Given the description of an element on the screen output the (x, y) to click on. 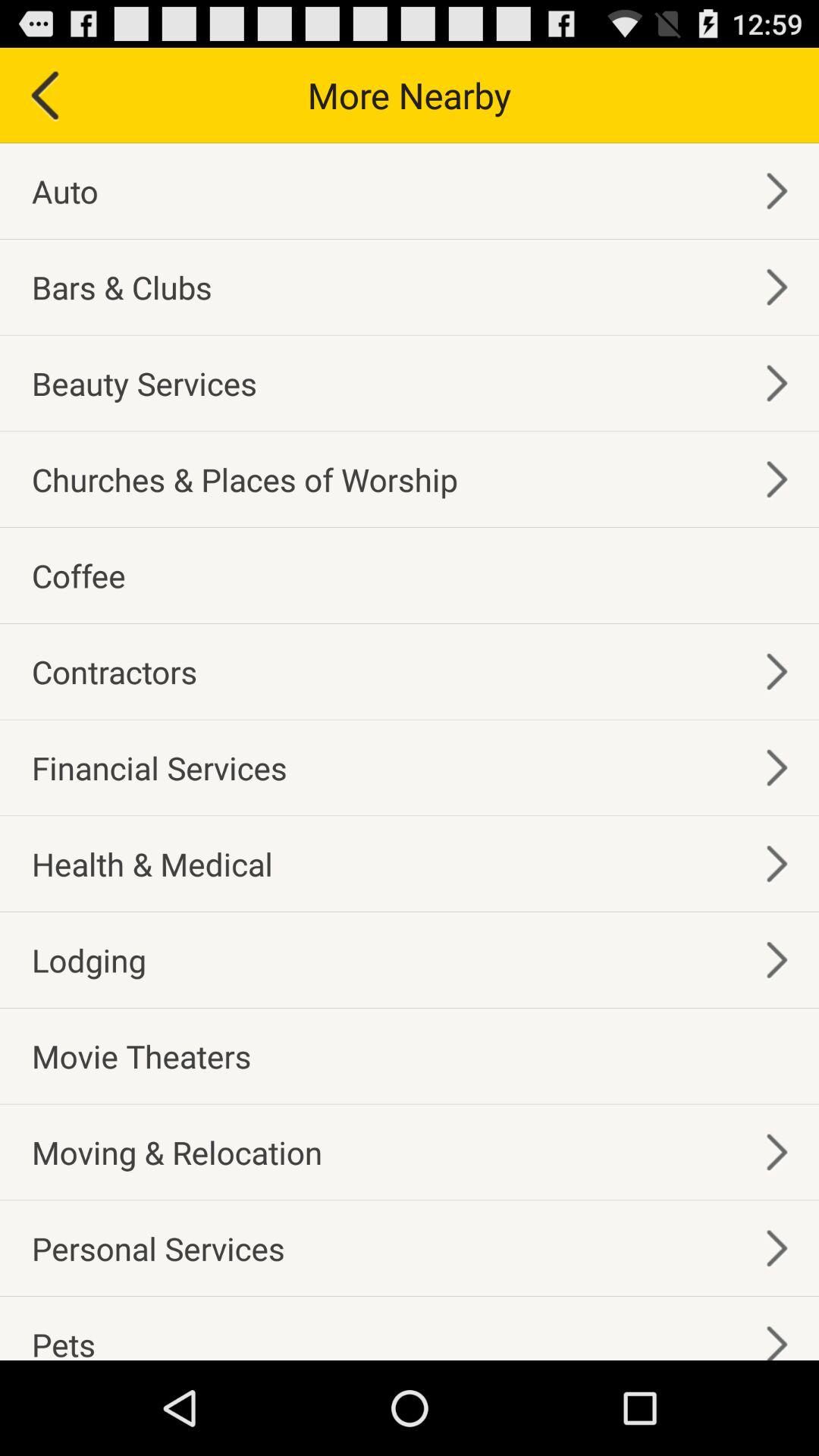
click item above the churches places of (144, 382)
